Given the description of an element on the screen output the (x, y) to click on. 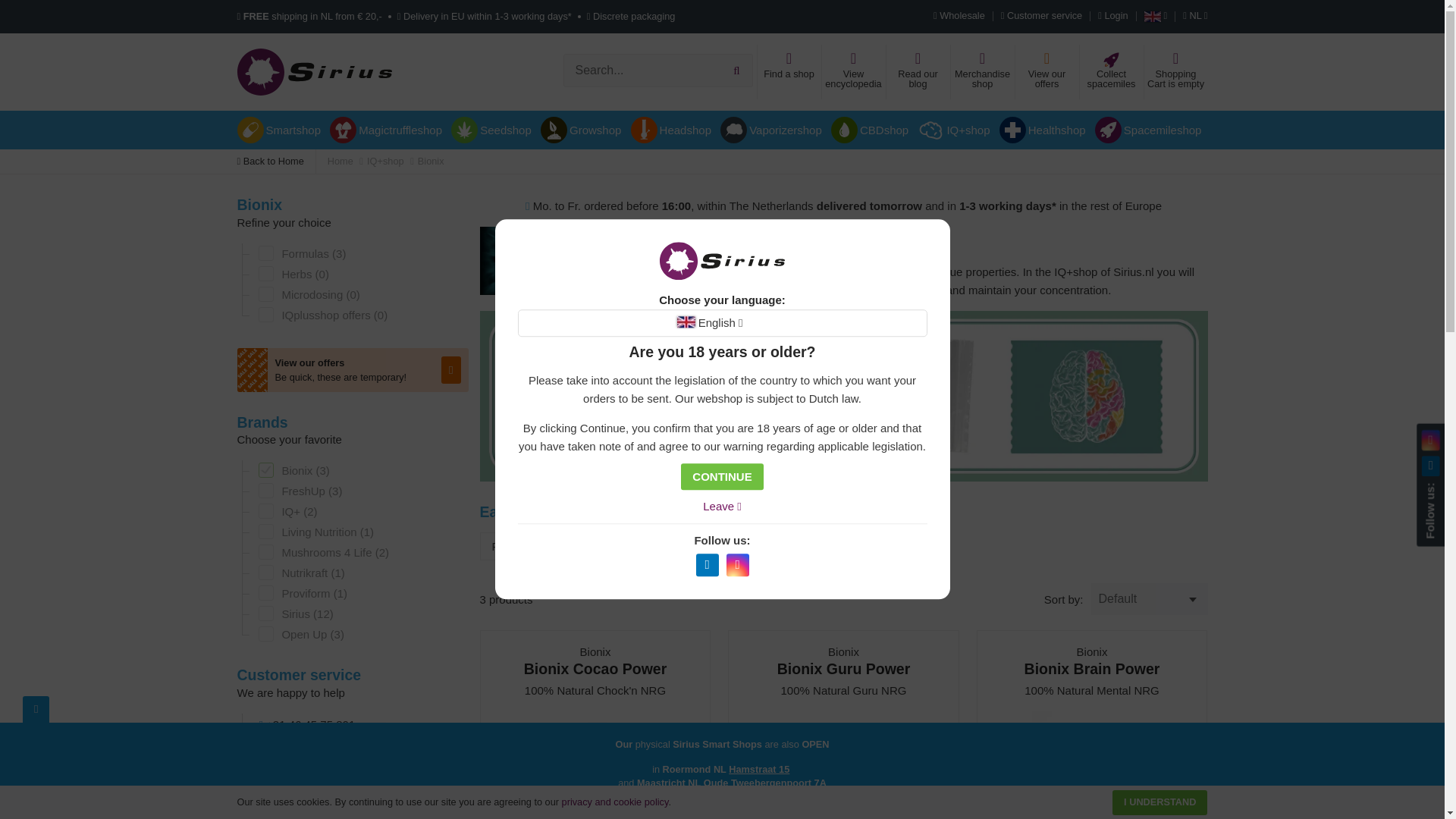
Wholesale (962, 16)
Merchandise shop (981, 72)
Smartshop (280, 129)
Read our blog (917, 72)
Customer service (1041, 16)
Shopping Cart is empty (1175, 72)
Find a shop (789, 72)
View encyclopedia (853, 72)
Collect spacemiles (1110, 72)
privacy and cookie policy (615, 801)
I UNDERSTAND (1159, 802)
View our offers (1046, 72)
